Given the description of an element on the screen output the (x, y) to click on. 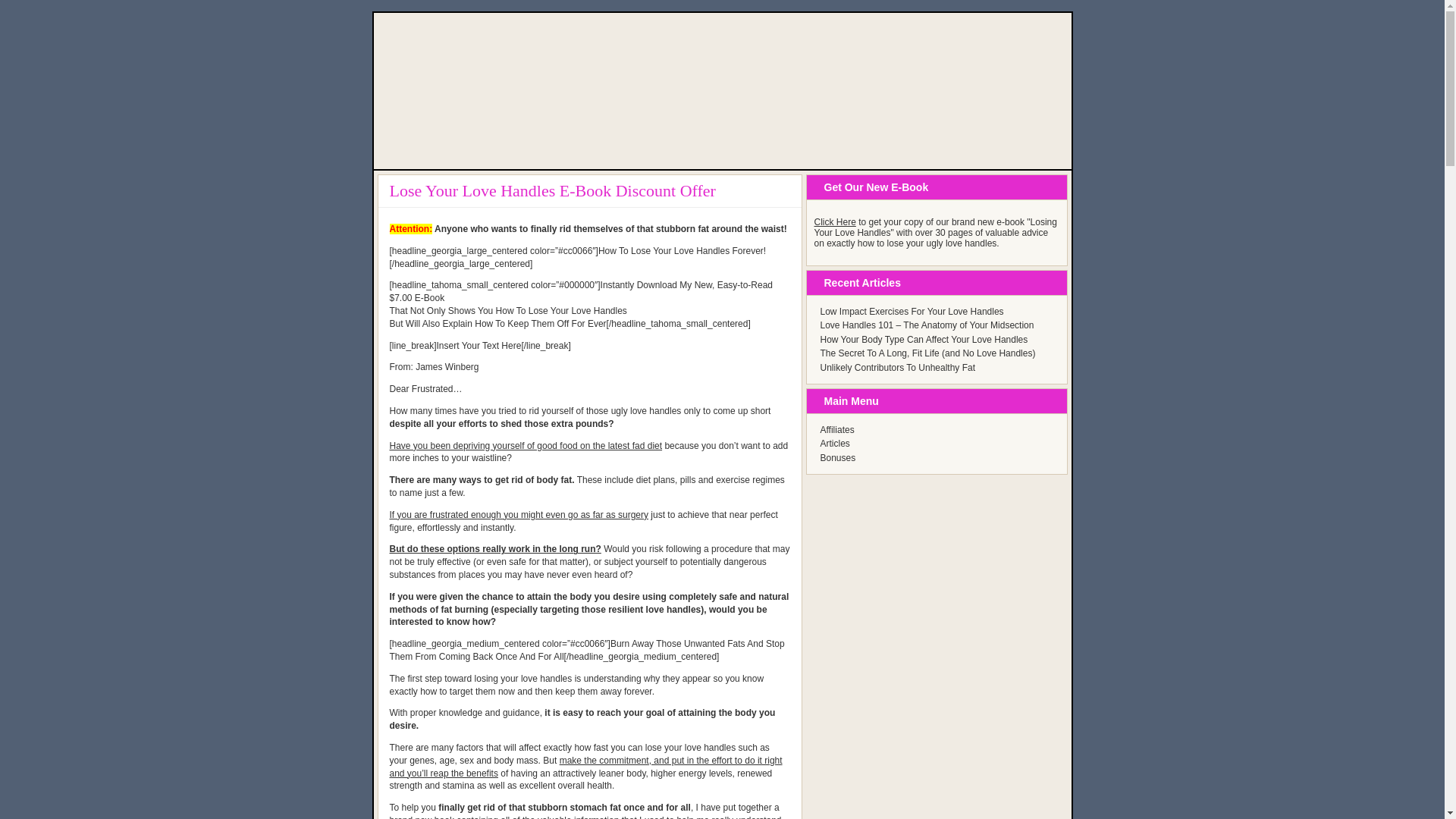
Affiliates Element type: text (837, 429)
Articles Element type: text (835, 443)
The Secret To A Long, Fit Life (and No Love Handles) Element type: text (927, 353)
Low Impact Exercises For Your Love Handles Element type: text (912, 311)
Bonuses Element type: text (838, 457)
Click Here Element type: text (835, 221)
Unlikely Contributors To Unhealthy Fat Element type: text (897, 367)
How Your Body Type Can Affect Your Love Handles Element type: text (924, 339)
